Given the description of an element on the screen output the (x, y) to click on. 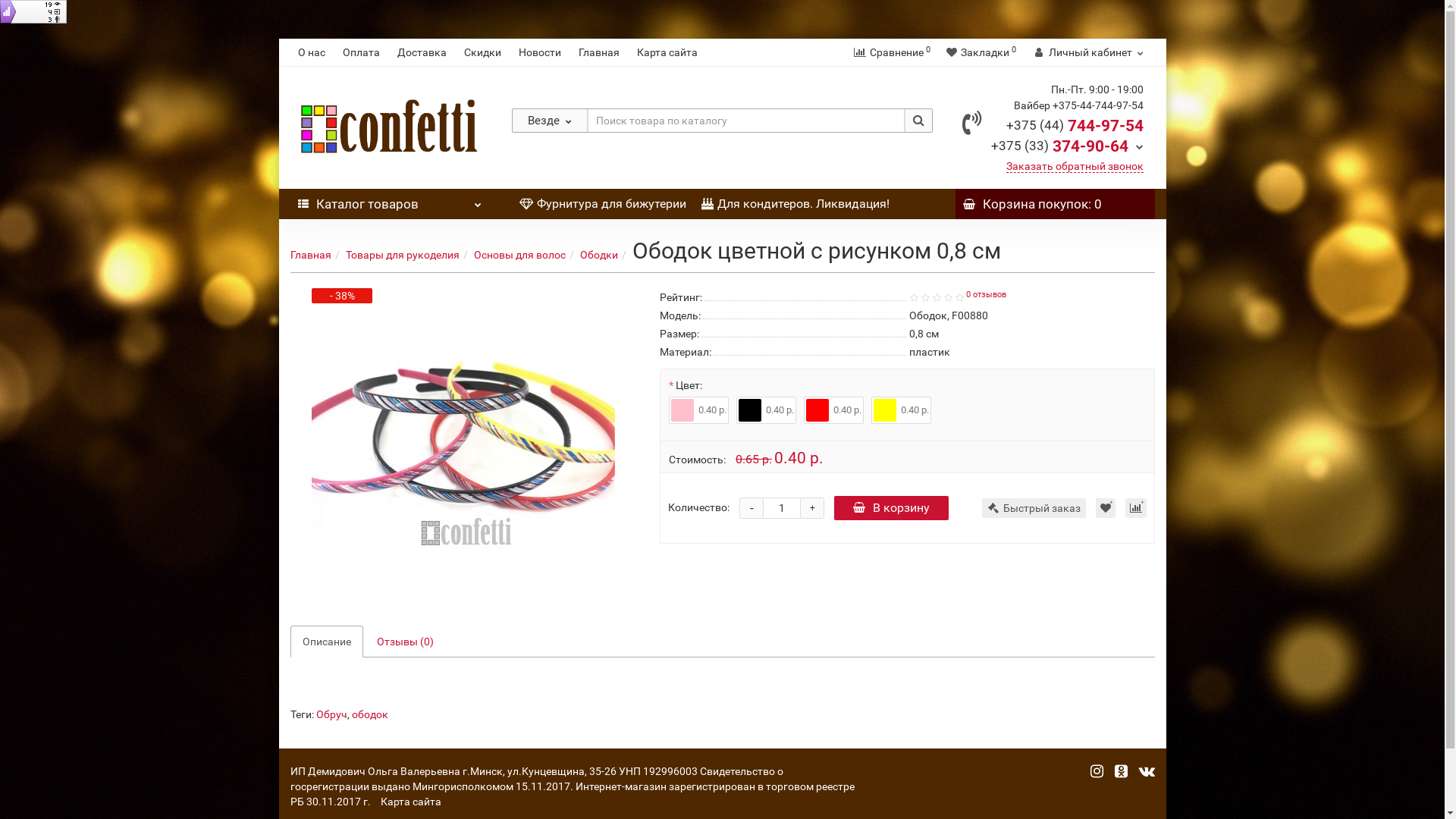
- 38% Element type: text (463, 439)
+ Element type: text (811, 507)
+375 (44) 744-97-54
+375 (33) 374-90-64 Element type: text (1066, 134)
- Element type: text (751, 507)
